Given the description of an element on the screen output the (x, y) to click on. 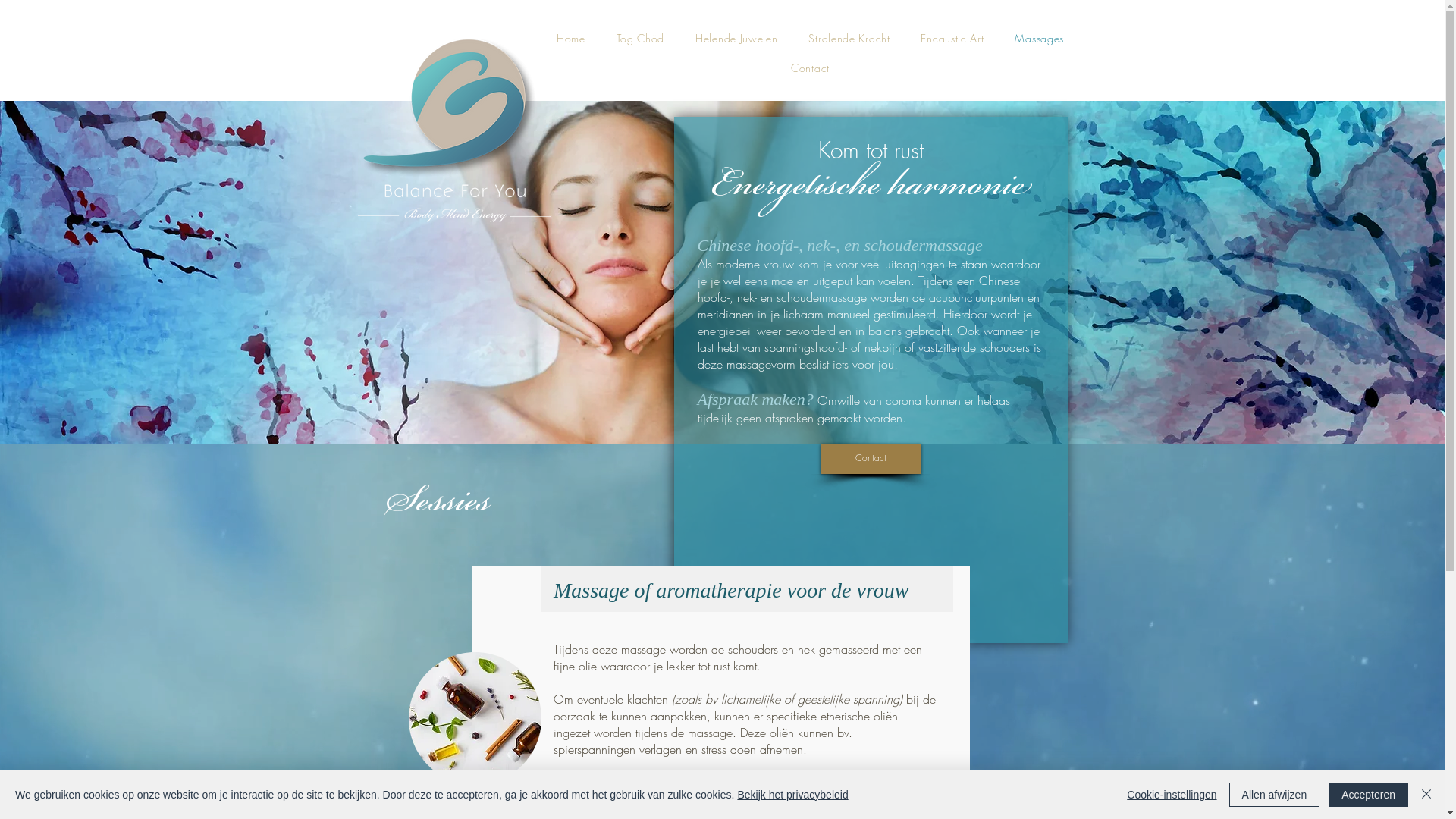
Home Element type: text (571, 38)
Helende Juwelen Element type: text (736, 38)
Allen afwijzen Element type: text (1274, 794)
Stralende Kracht Element type: text (849, 38)
Encaustic Art Element type: text (952, 38)
Contact Element type: text (870, 458)
Bekijk het privacybeleid Element type: text (792, 794)
Accepteren Element type: text (1368, 794)
Contact Element type: text (810, 68)
Massages Element type: text (1039, 38)
